Given the description of an element on the screen output the (x, y) to click on. 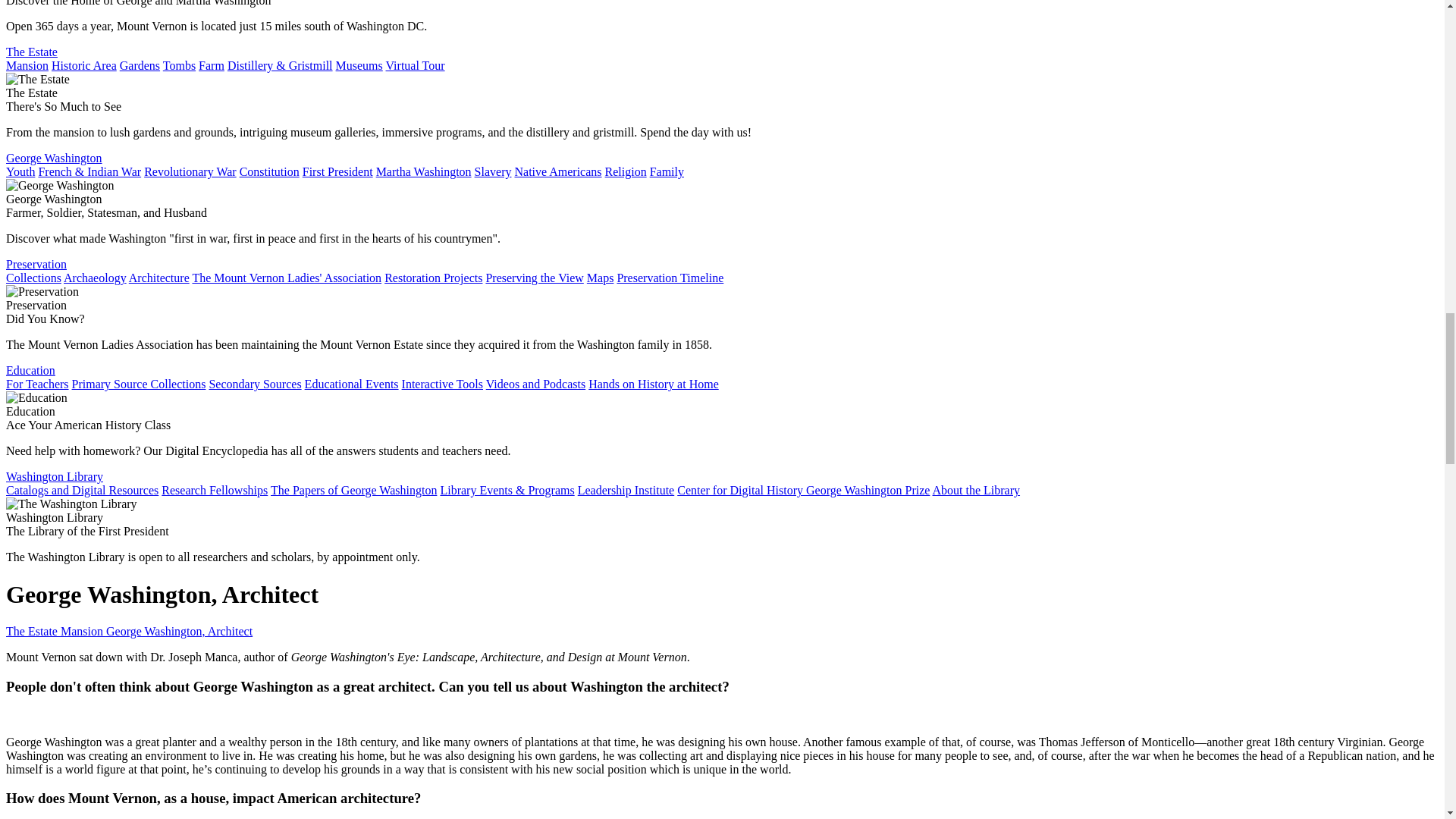
The Mount Vernon Estate (31, 51)
Mansion (26, 65)
